Given the description of an element on the screen output the (x, y) to click on. 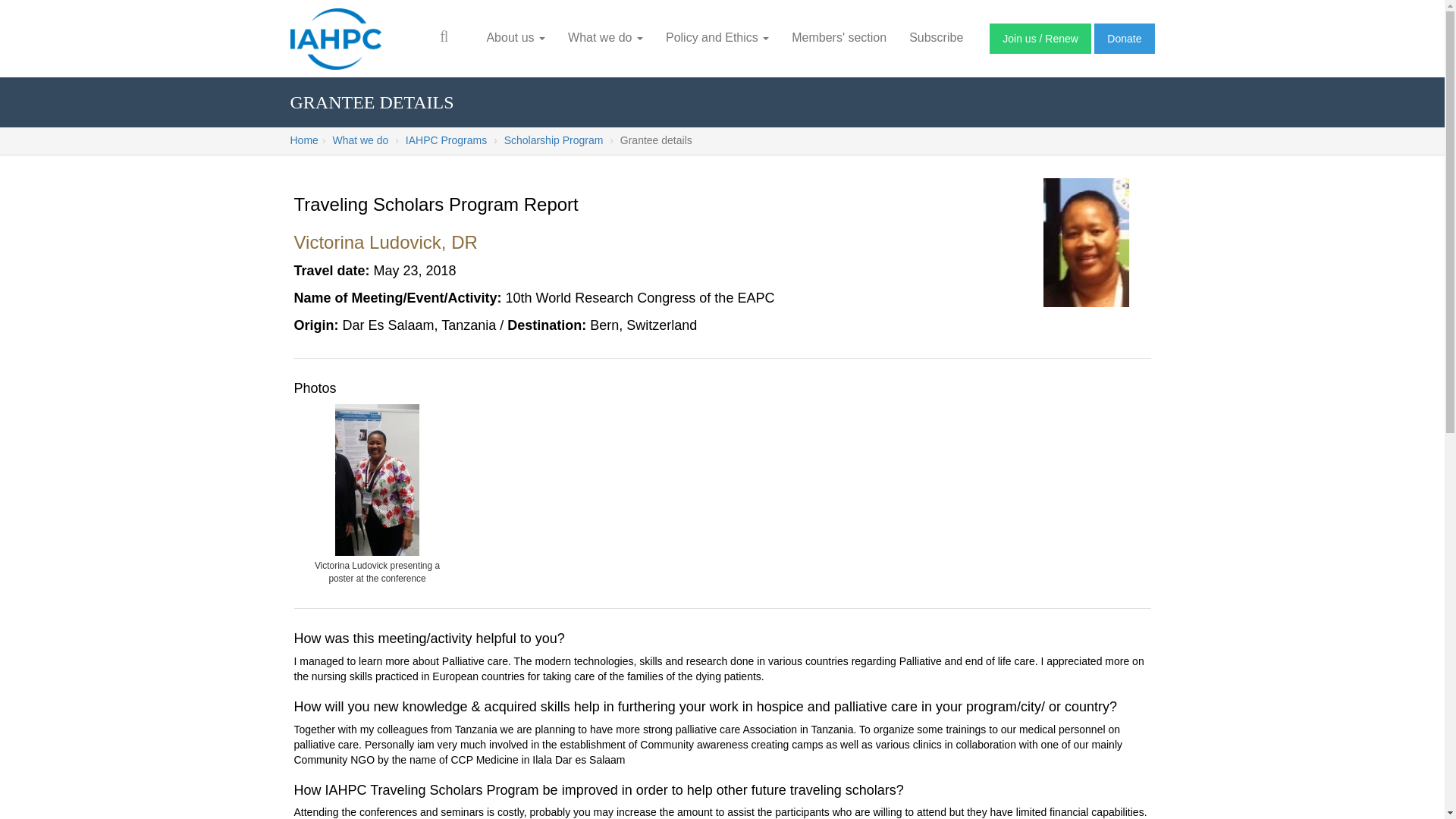
What we do (604, 38)
About us (515, 38)
Victorina Ludovick presenting a poster at the conference (376, 479)
